Given the description of an element on the screen output the (x, y) to click on. 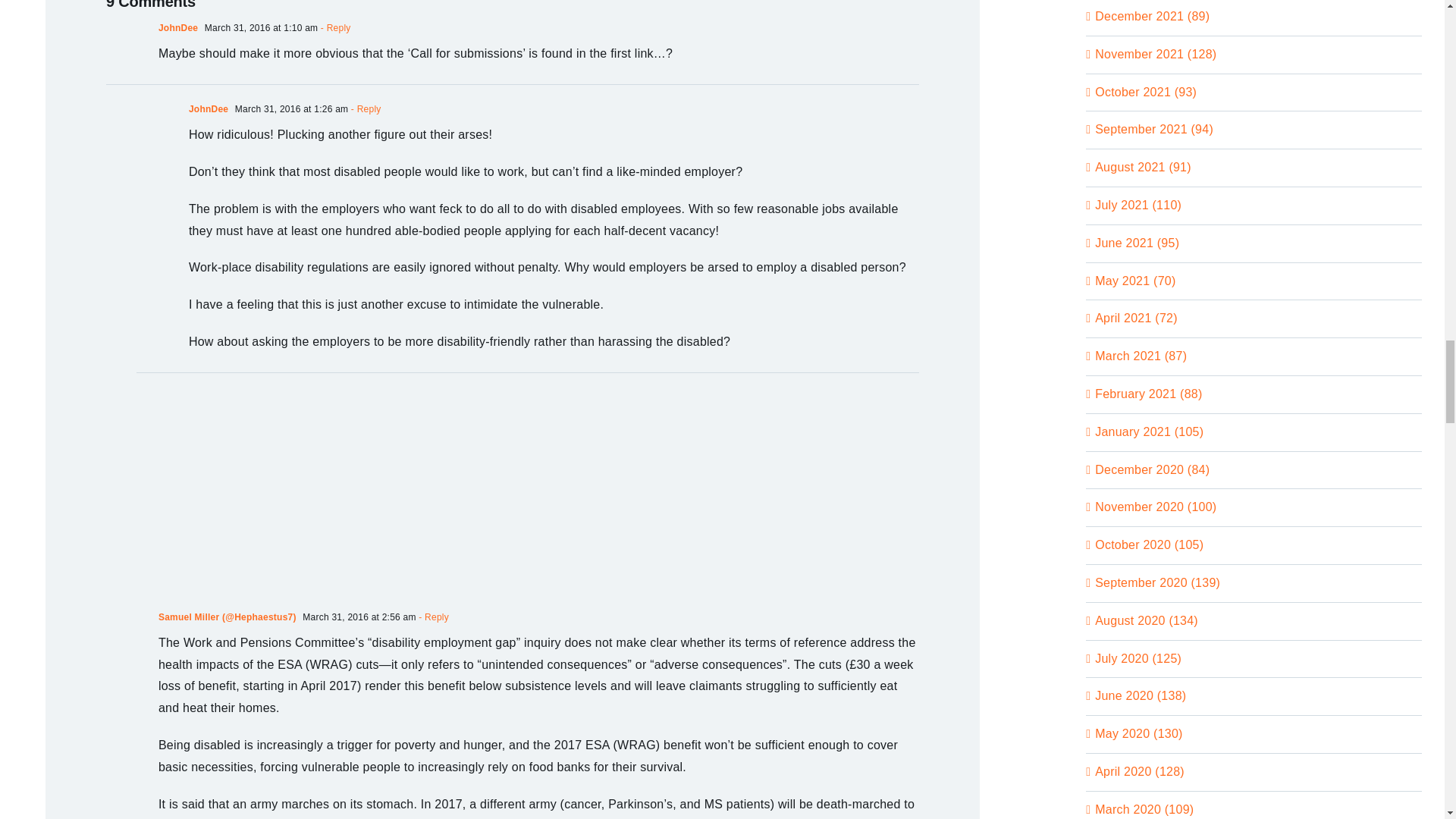
- Reply (432, 616)
JohnDee (208, 109)
JohnDee (178, 27)
- Reply (363, 109)
- Reply (333, 27)
